Given the description of an element on the screen output the (x, y) to click on. 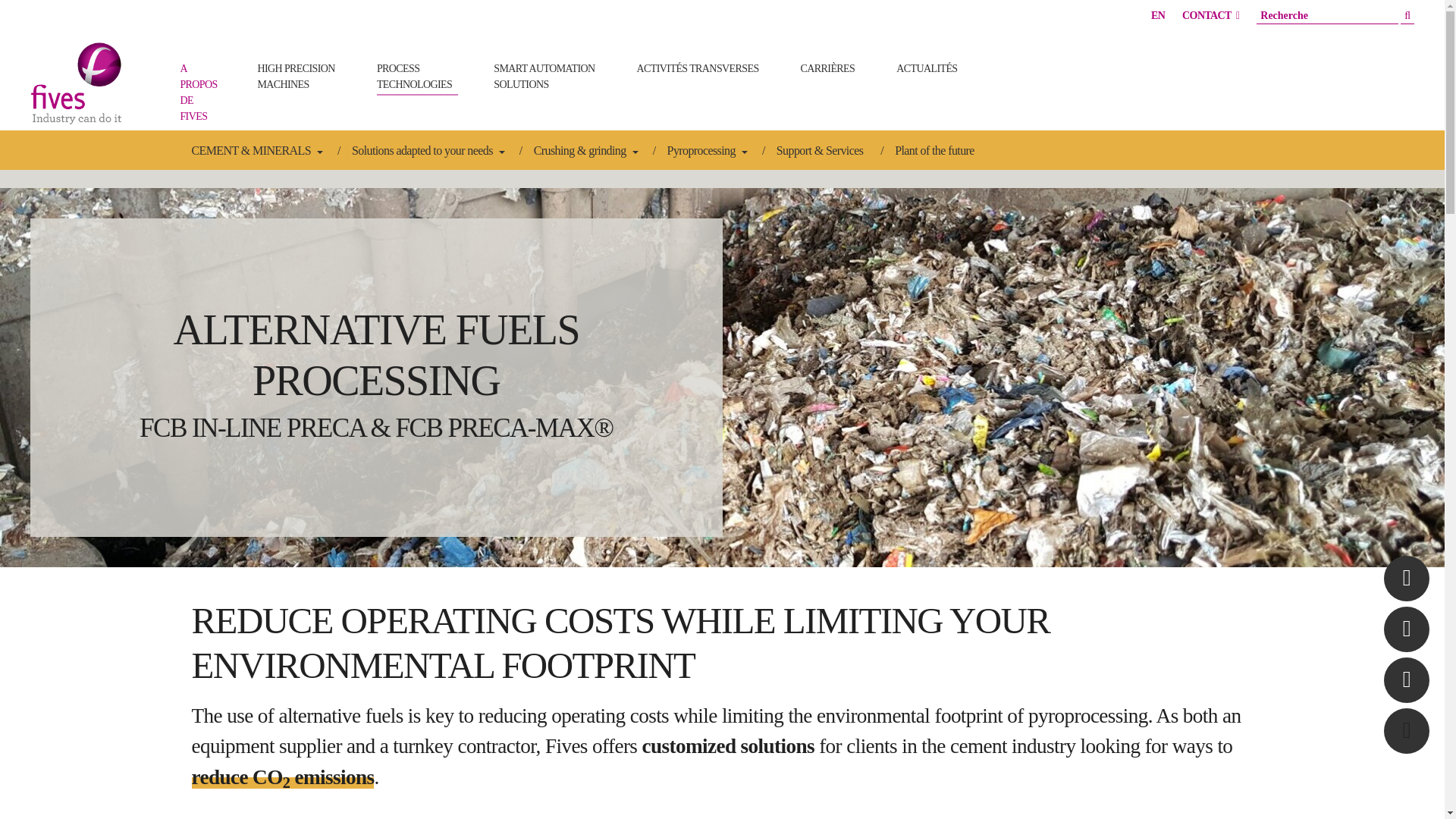
CONTACT (1210, 15)
English (1157, 15)
EN (1157, 15)
